Given the description of an element on the screen output the (x, y) to click on. 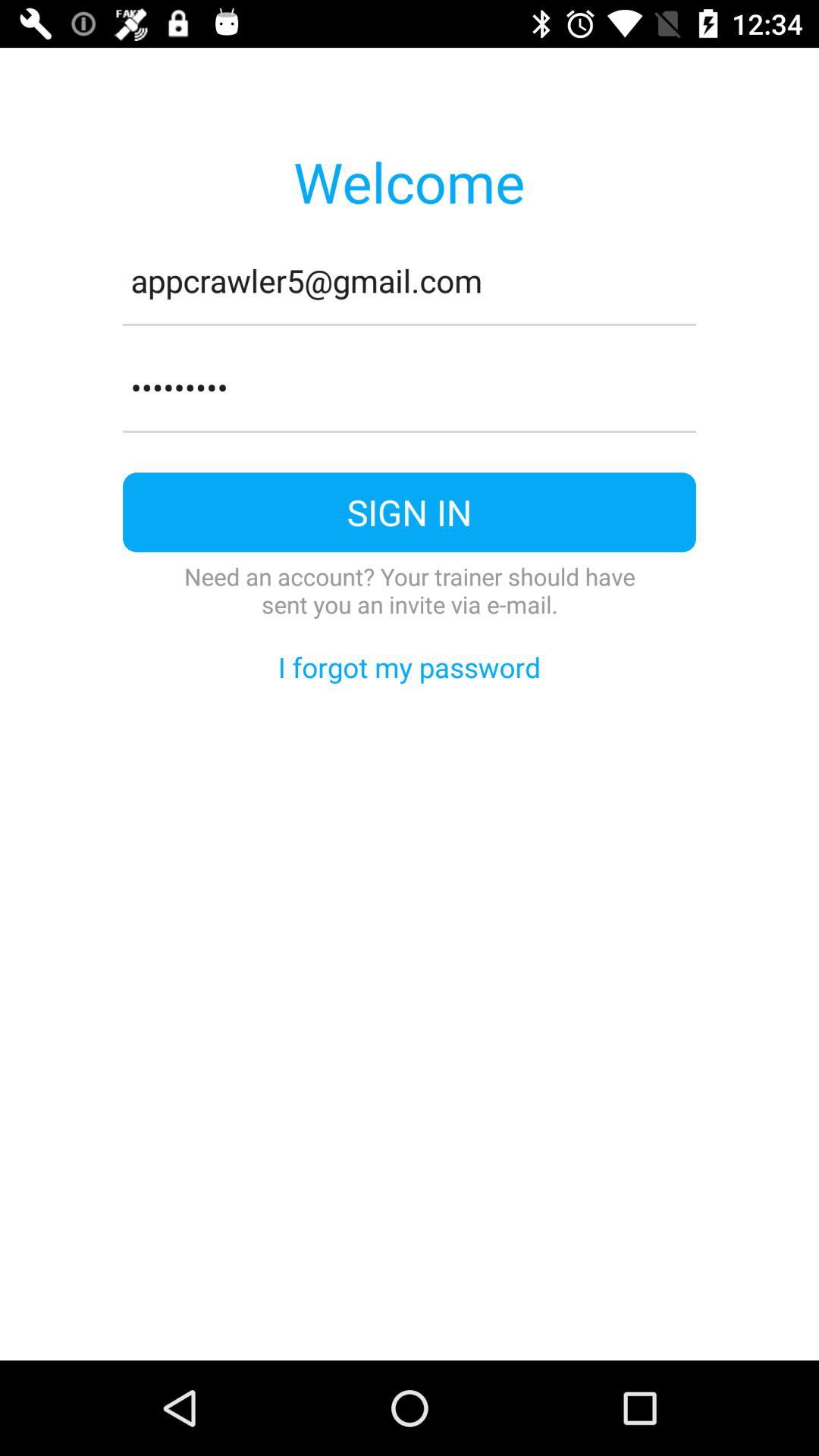
jump to the crowd3116 item (409, 387)
